Given the description of an element on the screen output the (x, y) to click on. 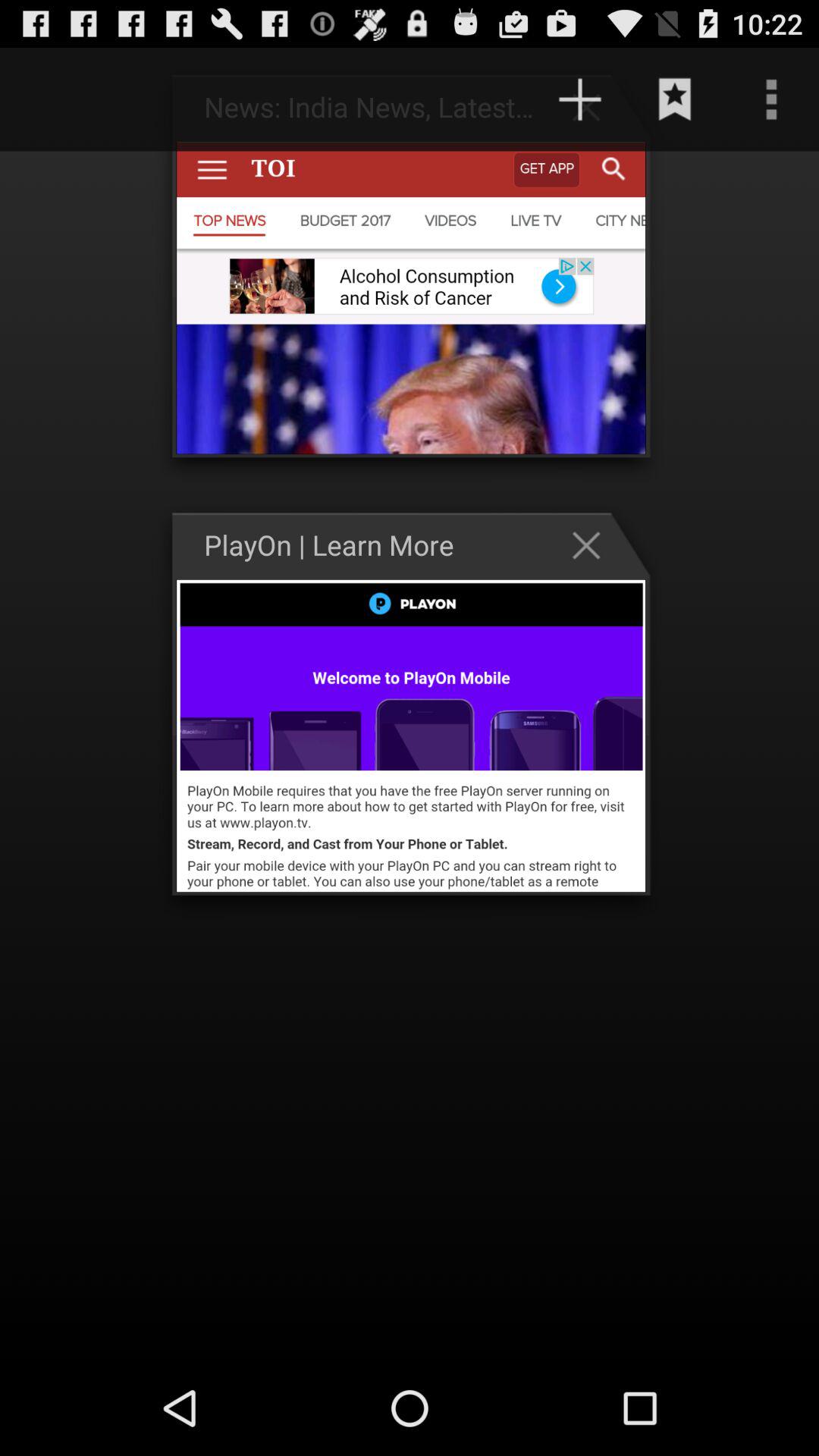
choose icon to the left of the http www playon (62, 99)
